Given the description of an element on the screen output the (x, y) to click on. 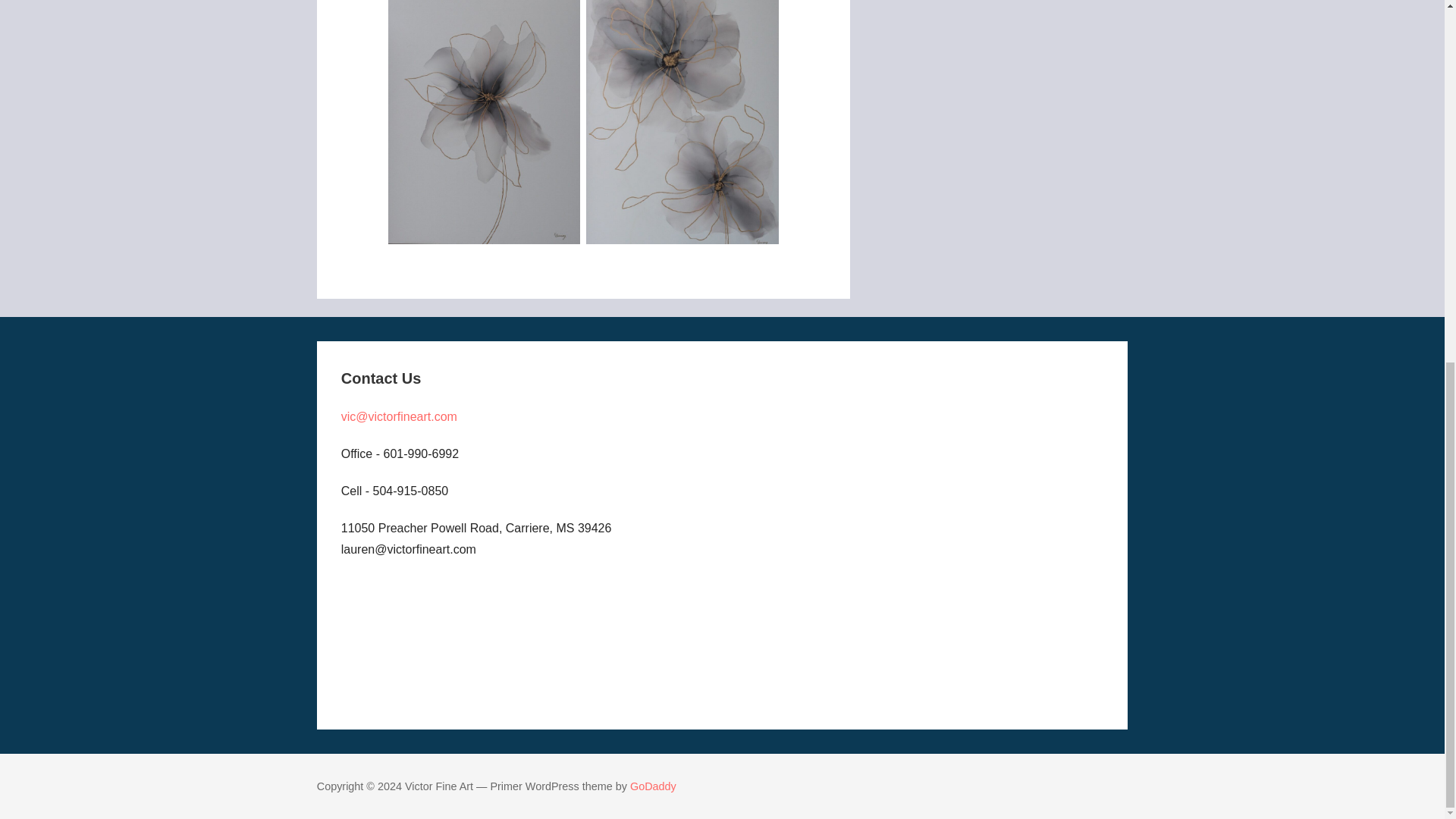
GoDaddy (653, 786)
